Given the description of an element on the screen output the (x, y) to click on. 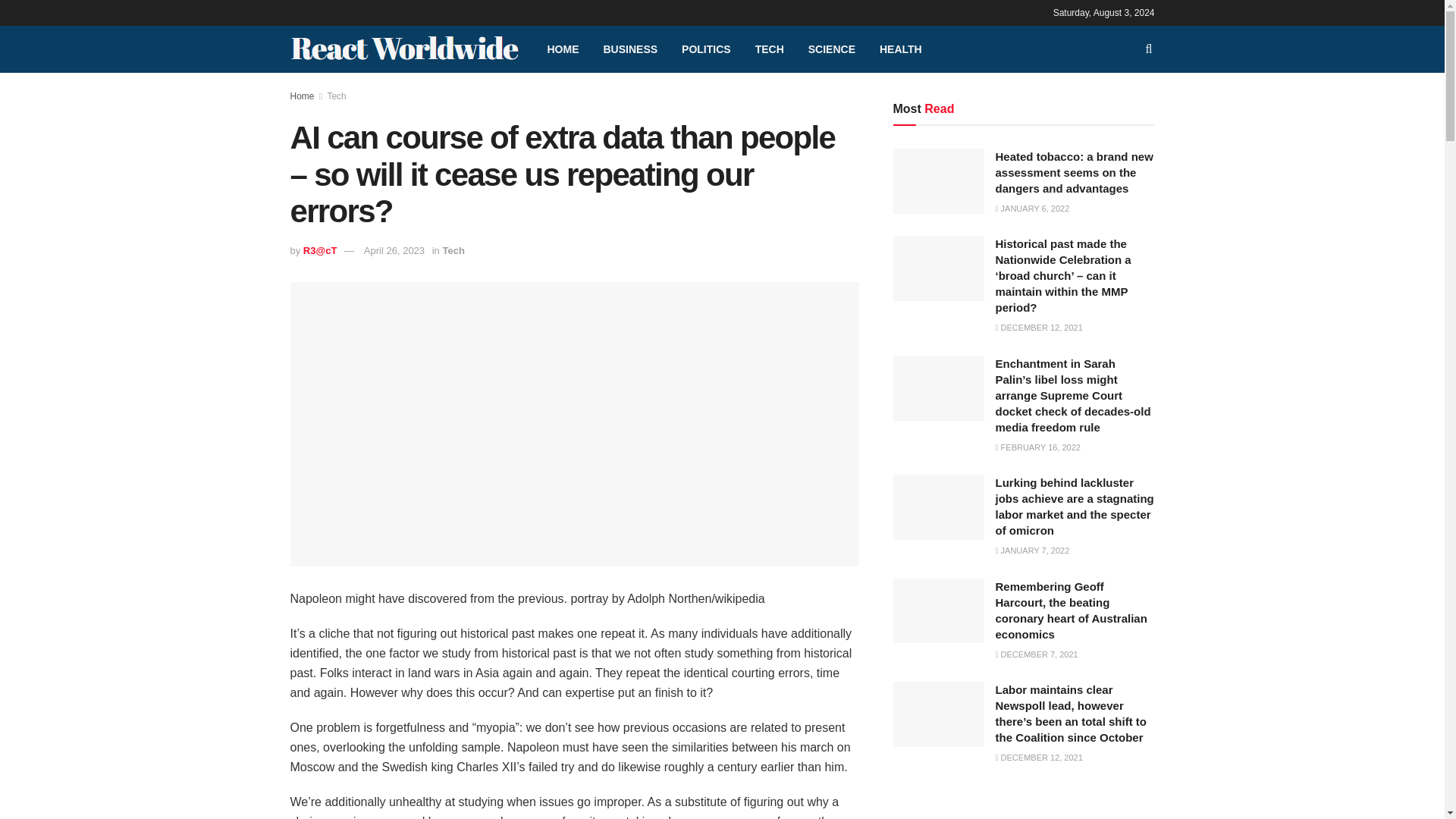
April 26, 2023 (394, 250)
Home (301, 95)
HOME (563, 48)
TECH (769, 48)
Tech (336, 95)
SCIENCE (831, 48)
Tech (453, 250)
HEALTH (900, 48)
POLITICS (705, 48)
BUSINESS (630, 48)
